Given the description of an element on the screen output the (x, y) to click on. 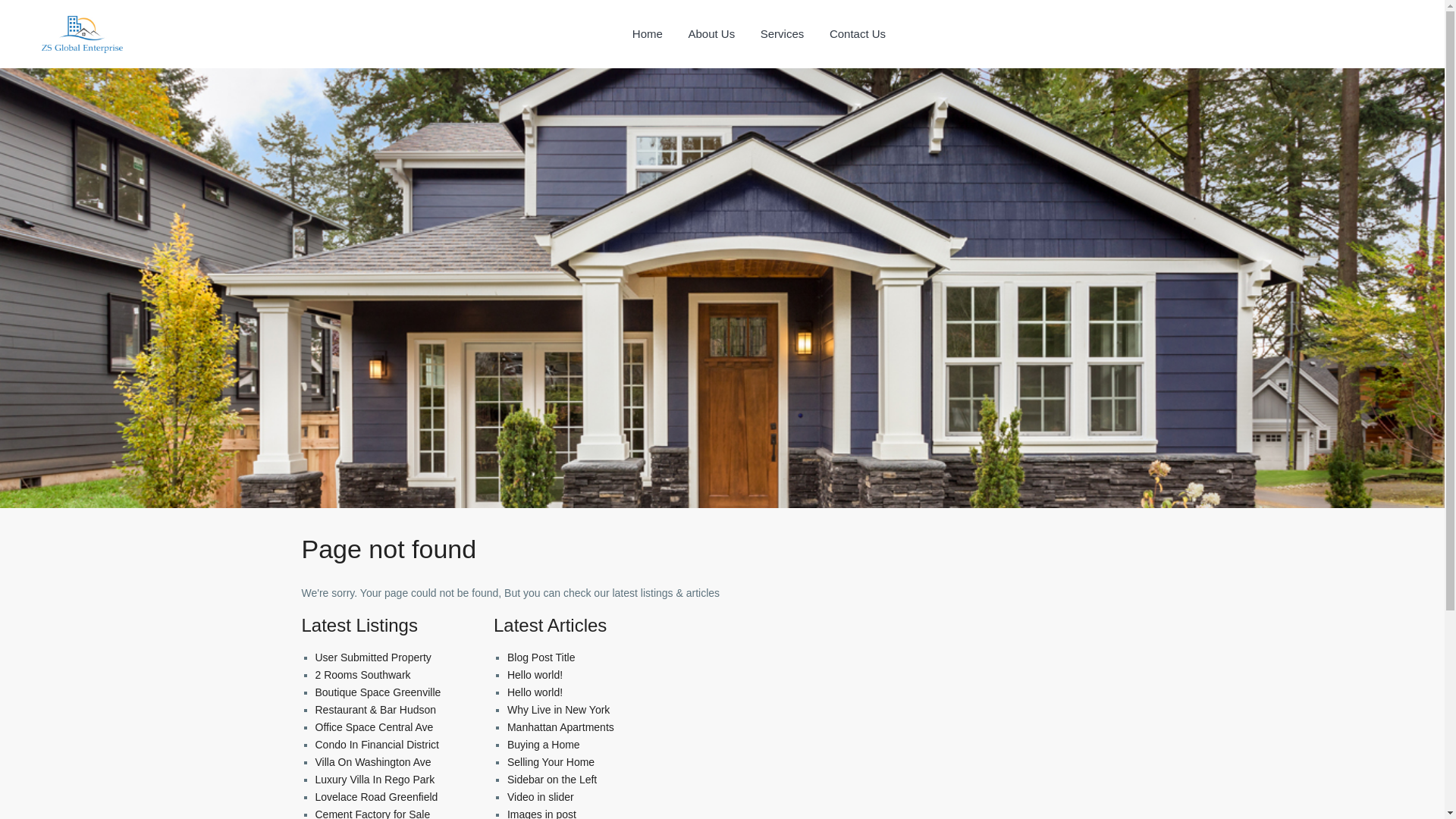
2 Rooms Southwark (362, 674)
Villa On Washington Ave (372, 761)
Manhattan Apartments (560, 727)
Buying a Home (542, 744)
Contact Us (857, 33)
Cement Factory for Sale (372, 813)
Lovelace Road Greenfield (376, 797)
Images in post (541, 813)
Hello world! (534, 674)
Services (782, 33)
